Given the description of an element on the screen output the (x, y) to click on. 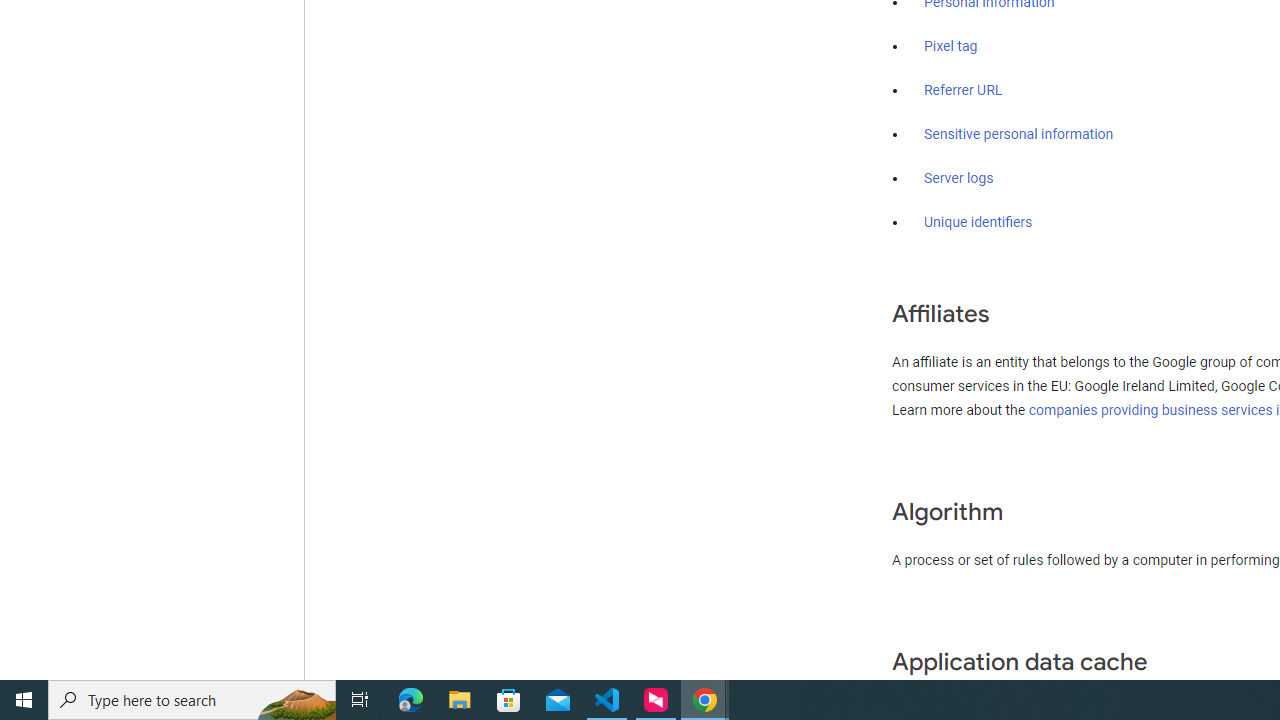
Unique identifiers (978, 222)
Referrer URL (963, 91)
Server logs (959, 178)
Sensitive personal information (1018, 134)
Pixel tag (950, 47)
